Given the description of an element on the screen output the (x, y) to click on. 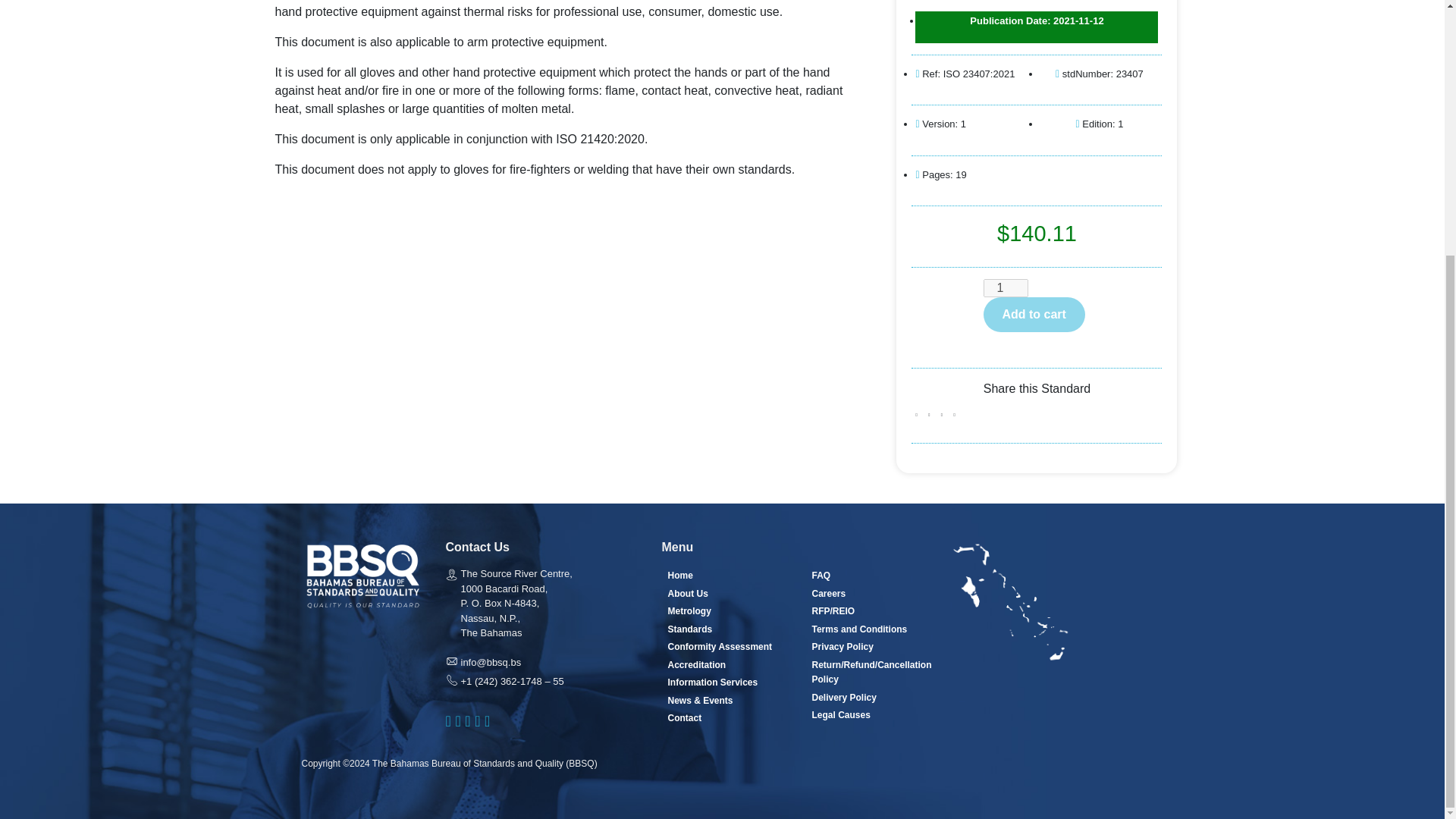
1 (1005, 288)
